Given the description of an element on the screen output the (x, y) to click on. 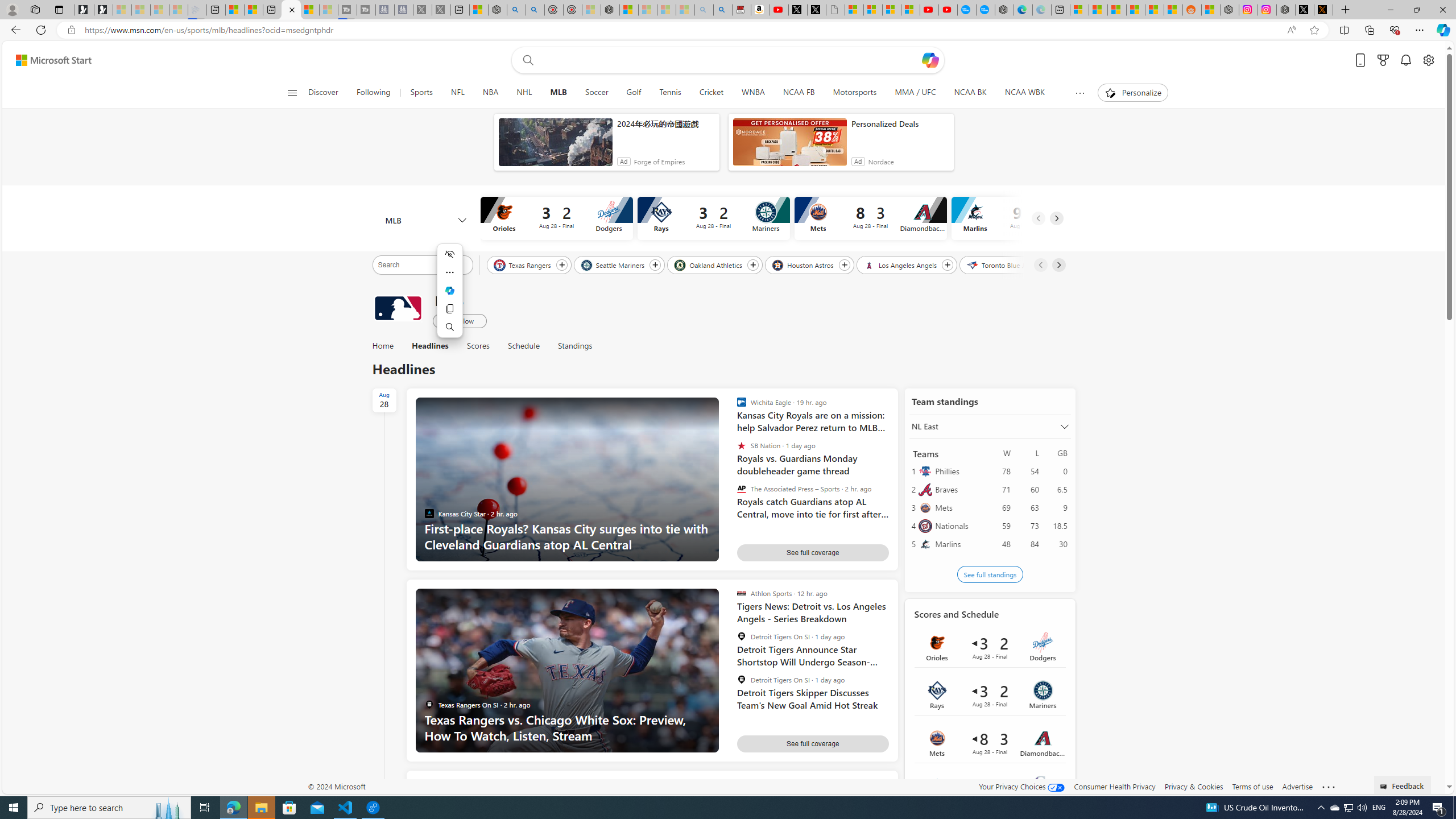
Terms of use (1252, 786)
See full standings (989, 574)
Los Angeles Angels (901, 264)
NBA (490, 92)
Open settings (1427, 60)
Tennis (669, 92)
